Given the description of an element on the screen output the (x, y) to click on. 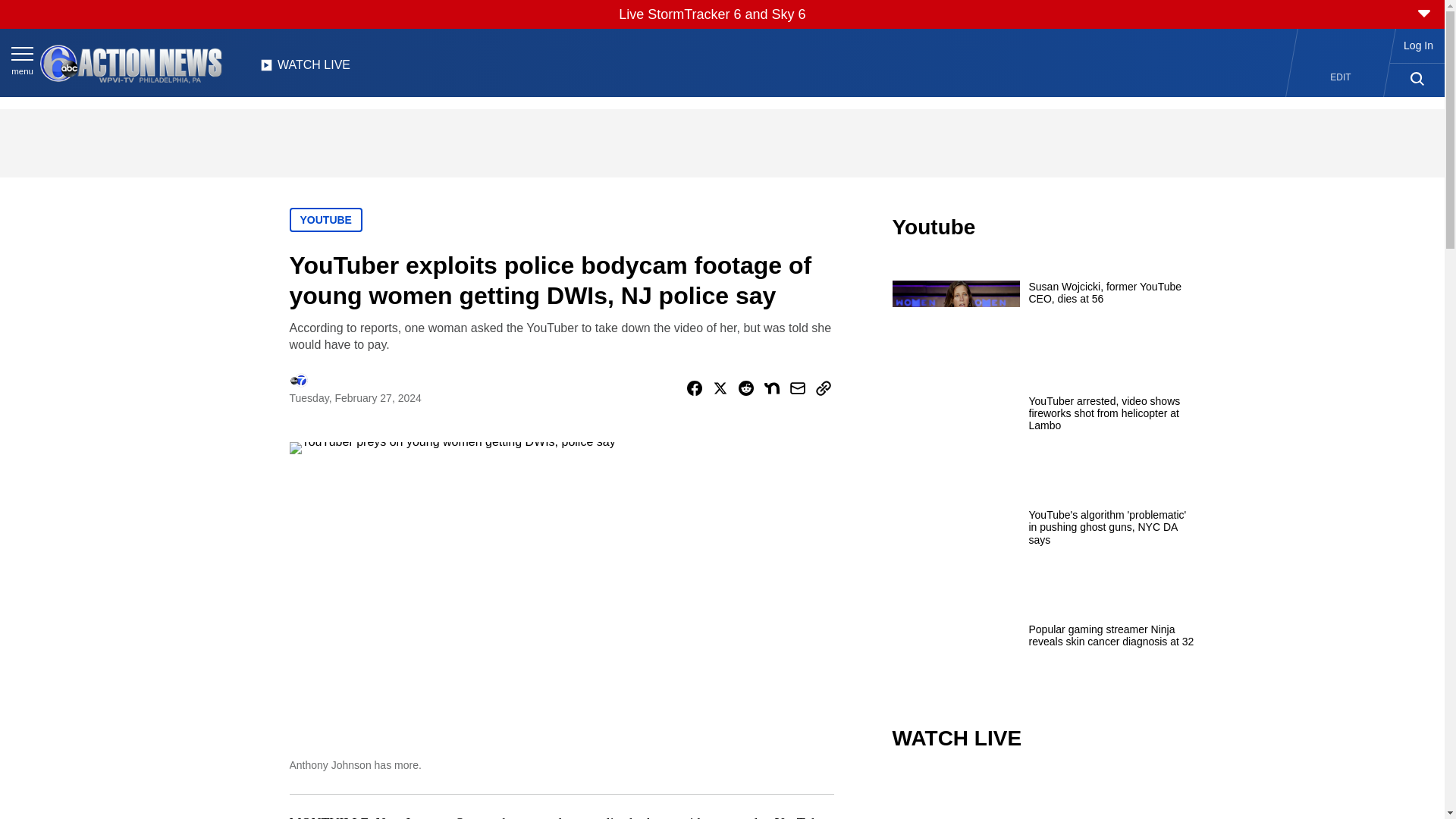
video.title (1043, 796)
WATCH LIVE (305, 69)
EDIT (1340, 77)
